Given the description of an element on the screen output the (x, y) to click on. 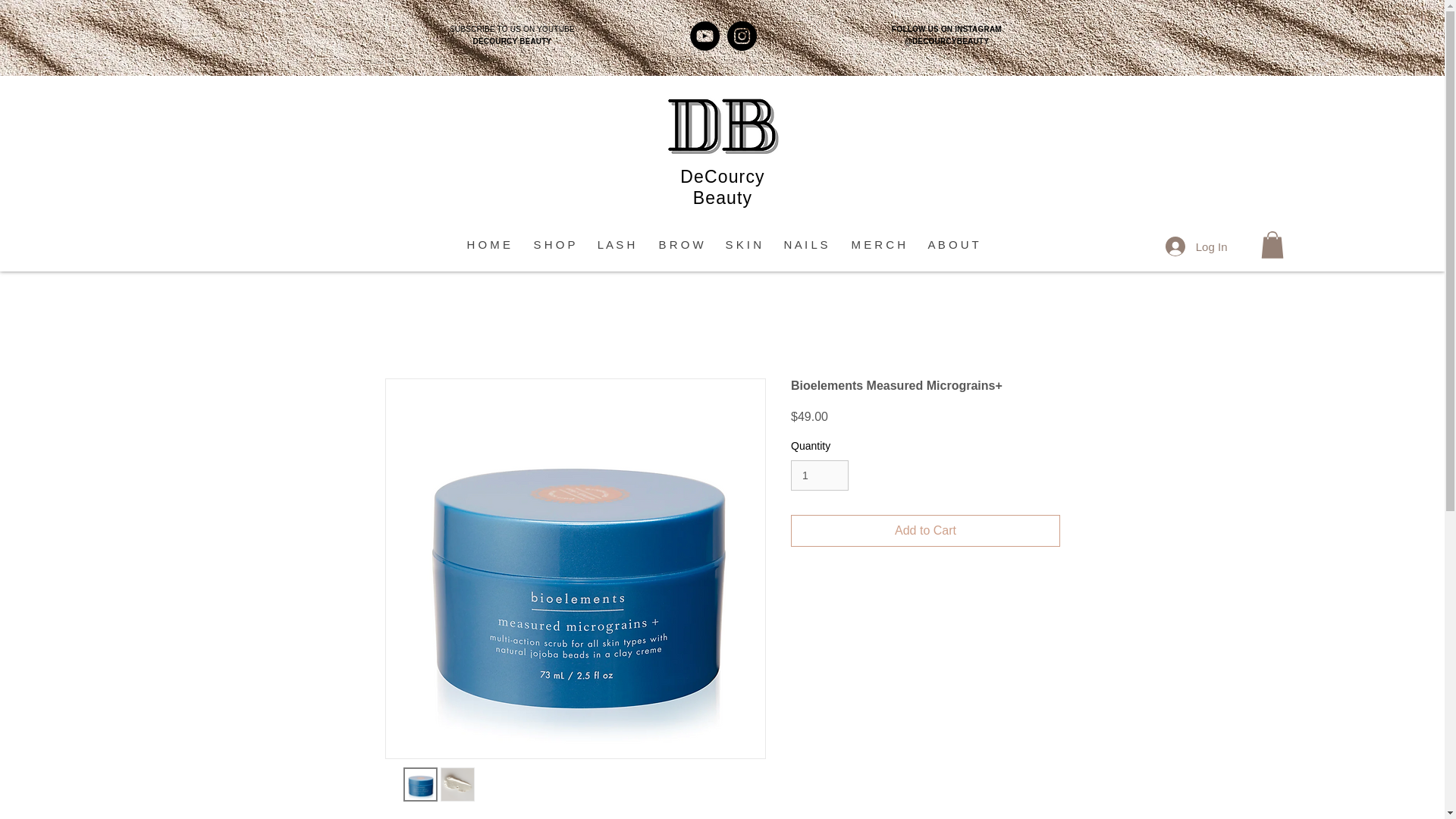
Beauty (722, 198)
Log In (1196, 246)
N A I L S (805, 244)
DECOURCY BEAUTY (512, 40)
FOLLOW US ON INSTAGRAM (946, 29)
Add to Cart (924, 531)
S K I N (742, 244)
B R O W (679, 244)
L A S H (615, 244)
DeCourcy (721, 176)
SUBSCRIBE TO US ON YOUTUBE (512, 29)
S H O P (553, 244)
H O M E (487, 244)
M E R C H (876, 244)
1 (819, 475)
